Given the description of an element on the screen output the (x, y) to click on. 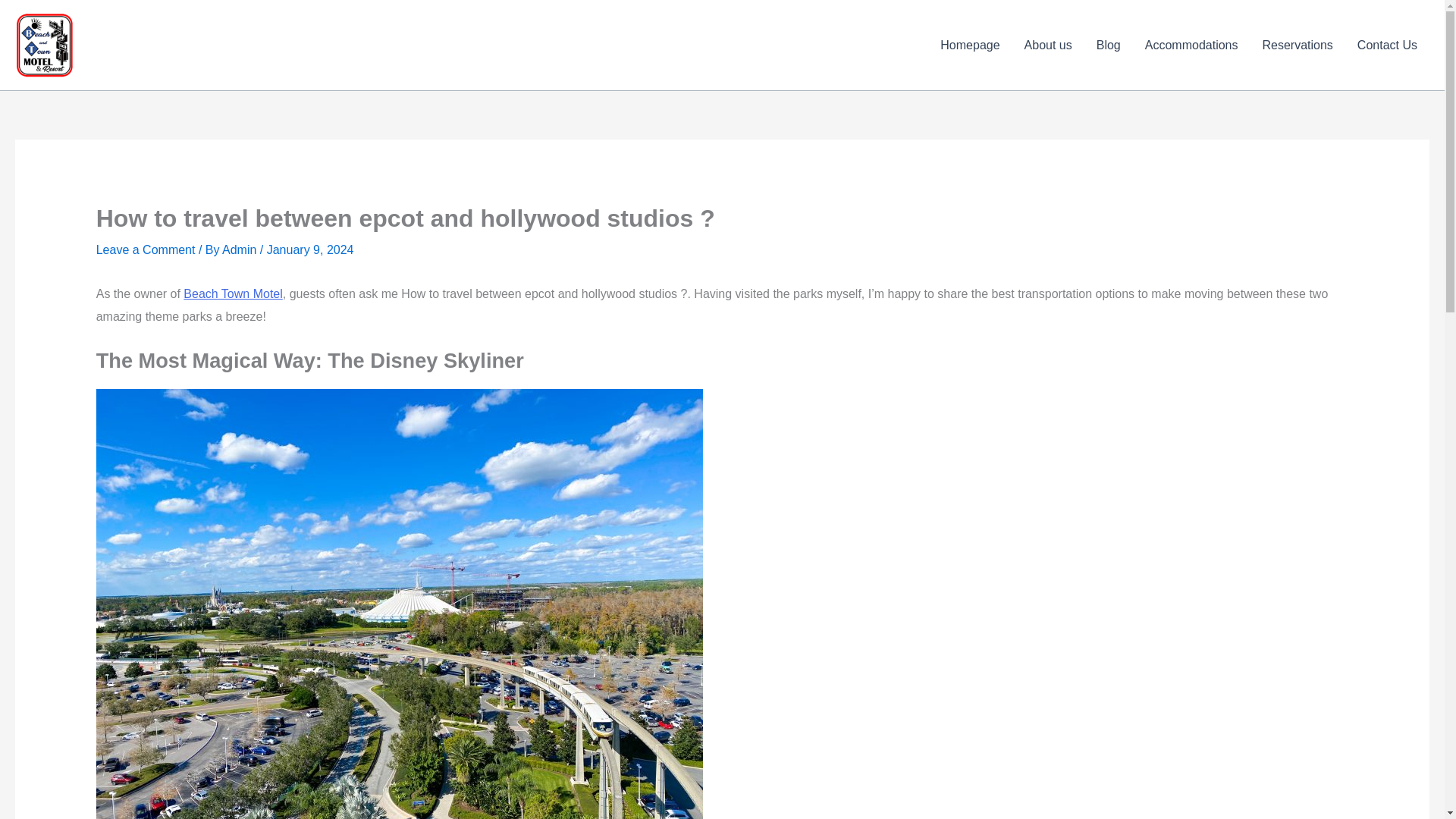
Leave a Comment (145, 249)
Contact Us (1387, 45)
Admin (241, 249)
Reservations (1296, 45)
Homepage (969, 45)
Beach Town Motel (232, 293)
Accommodations (1191, 45)
View all posts by Admin (241, 249)
About us (1047, 45)
